Given the description of an element on the screen output the (x, y) to click on. 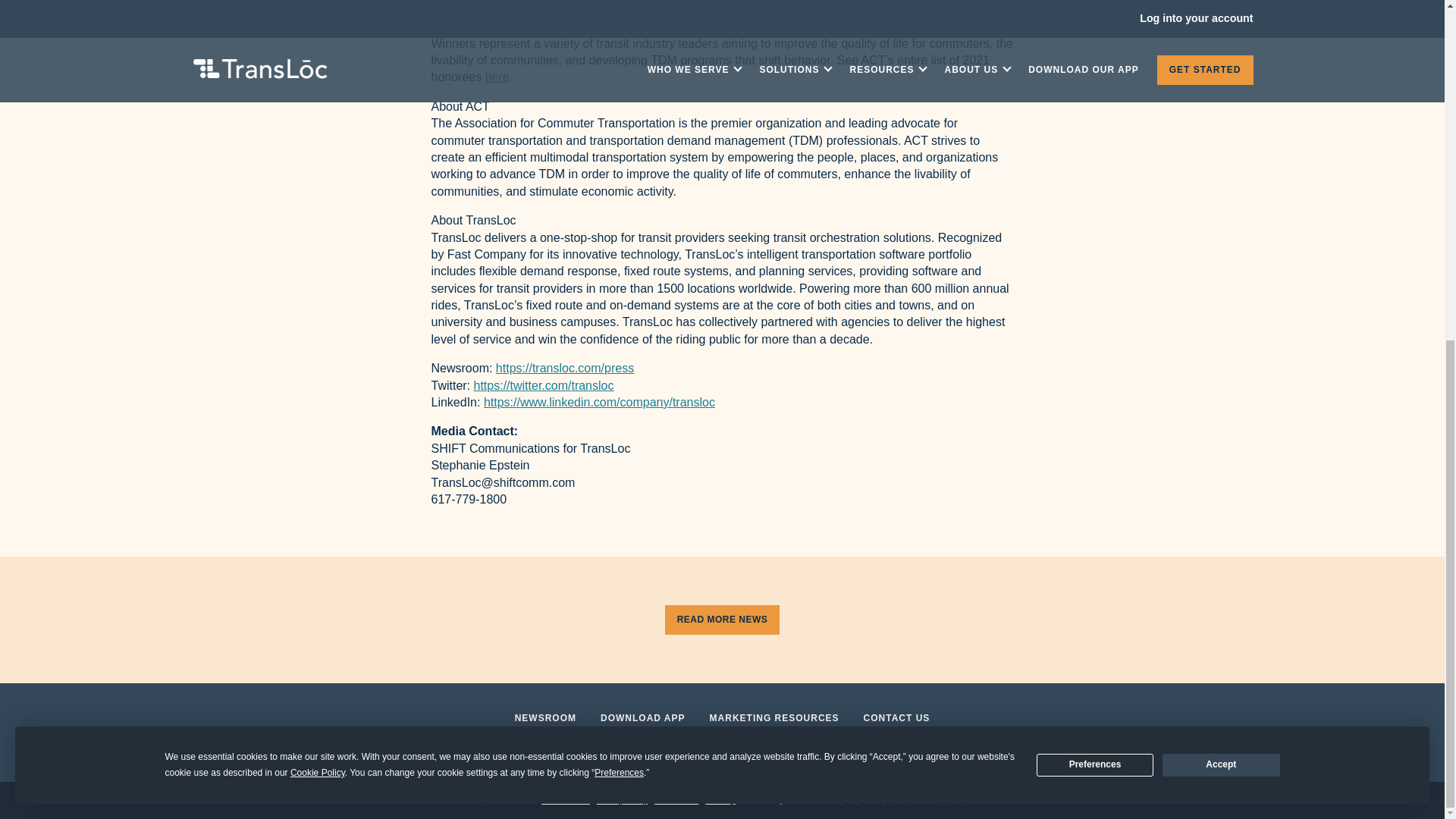
here (496, 76)
Accept (1220, 188)
Preferences (1094, 188)
